Given the description of an element on the screen output the (x, y) to click on. 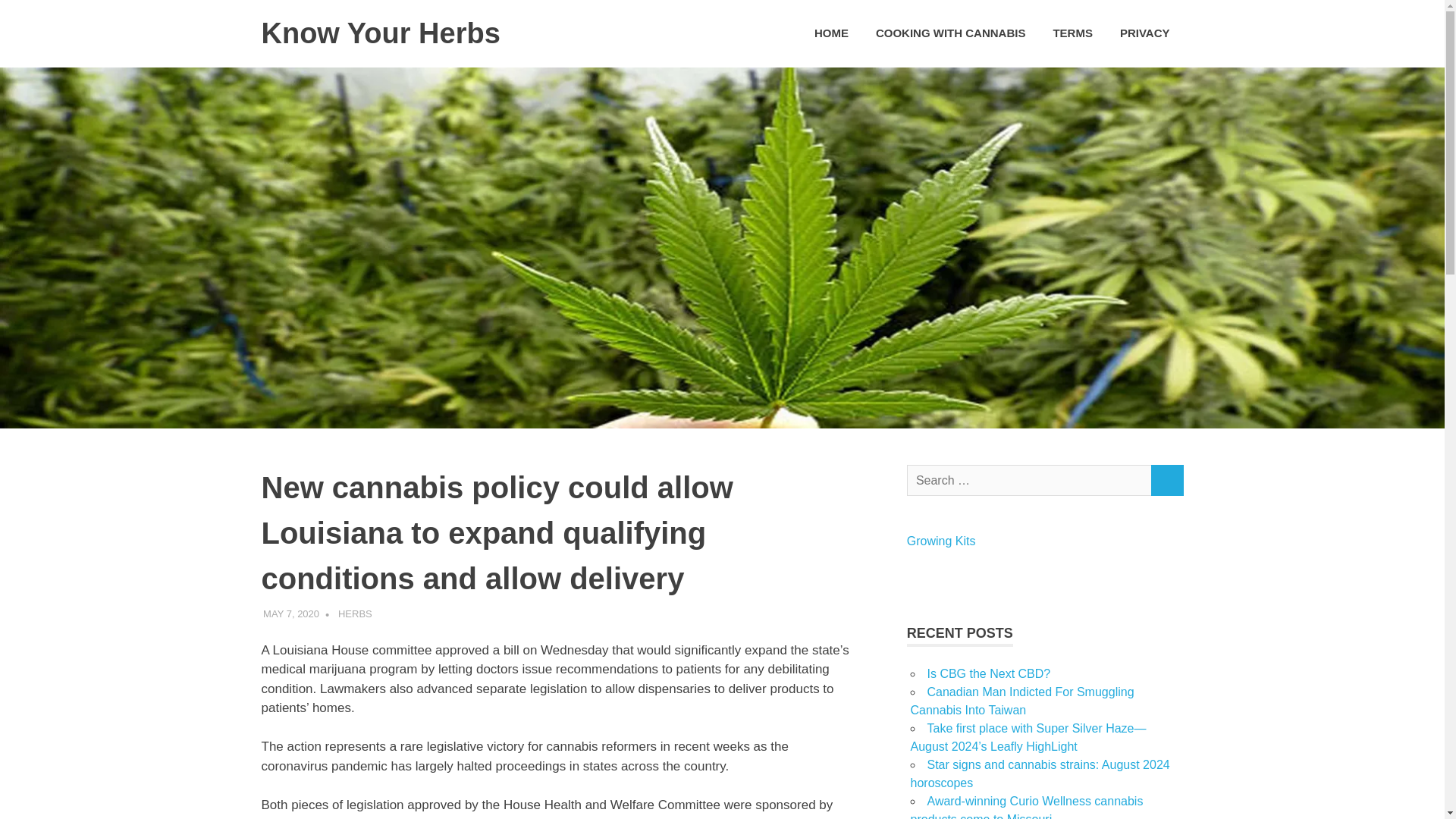
Canadian Man Indicted For Smuggling Cannabis Into Taiwan (1022, 700)
HERBS (354, 613)
Search for: (1029, 480)
Know Your Herbs (379, 33)
Is CBG the Next CBD? (987, 673)
HOME (830, 33)
Star signs and cannabis strains: August 2024 horoscopes (1039, 773)
PRIVACY (1144, 33)
Growing Kits (941, 540)
TERMS (1072, 33)
